Given the description of an element on the screen output the (x, y) to click on. 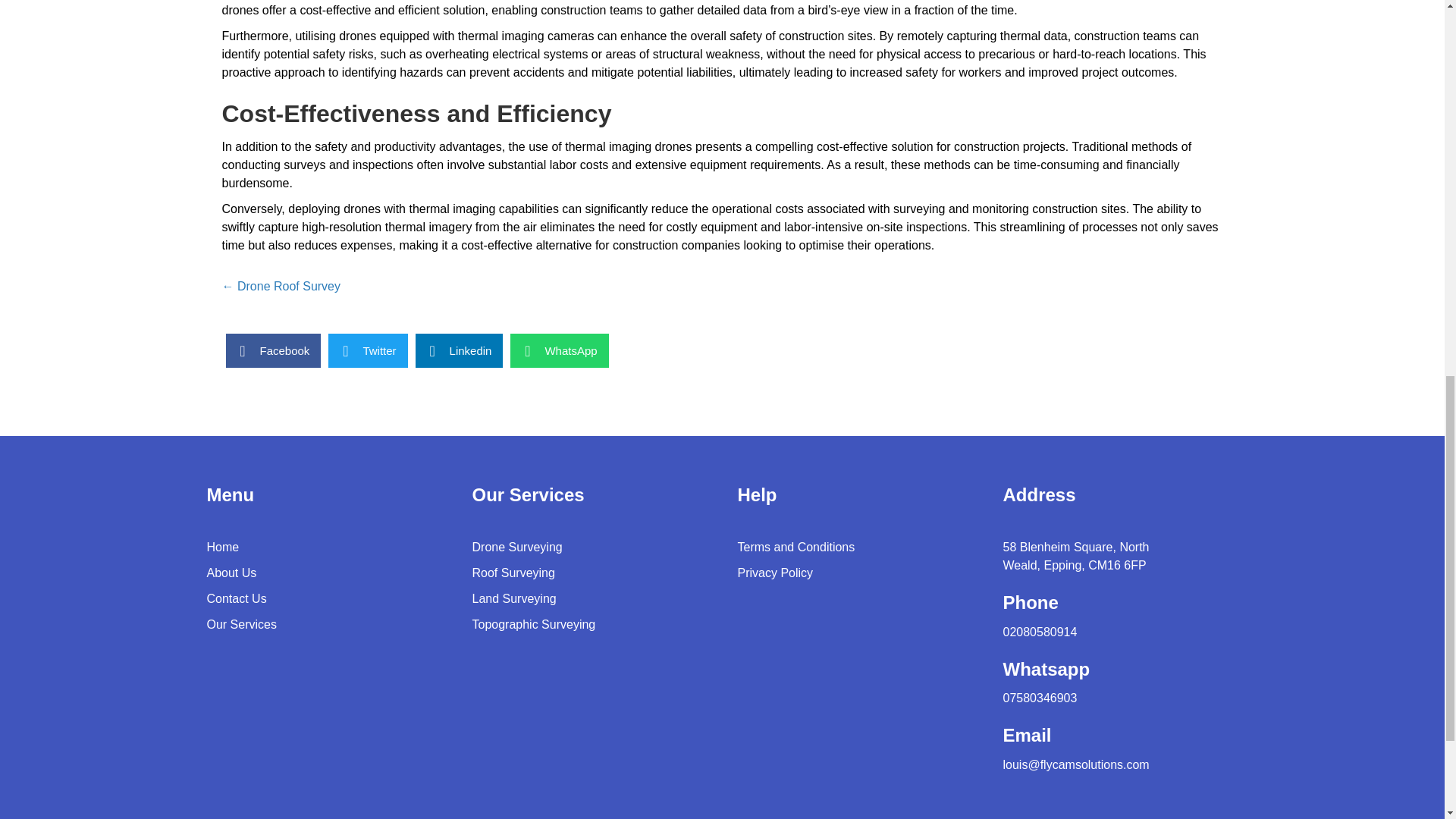
07580346903 (1040, 697)
About Us (231, 572)
Our Services (241, 624)
Linkedin (458, 350)
WhatsApp (559, 350)
02080580914 (1040, 631)
Contact Us (236, 598)
Roof Surveying (512, 572)
Drone Surveying (516, 546)
Twitter (368, 350)
Topographic Surveying (533, 624)
Home (222, 546)
Facebook (273, 350)
Land Surveying (513, 598)
